Given the description of an element on the screen output the (x, y) to click on. 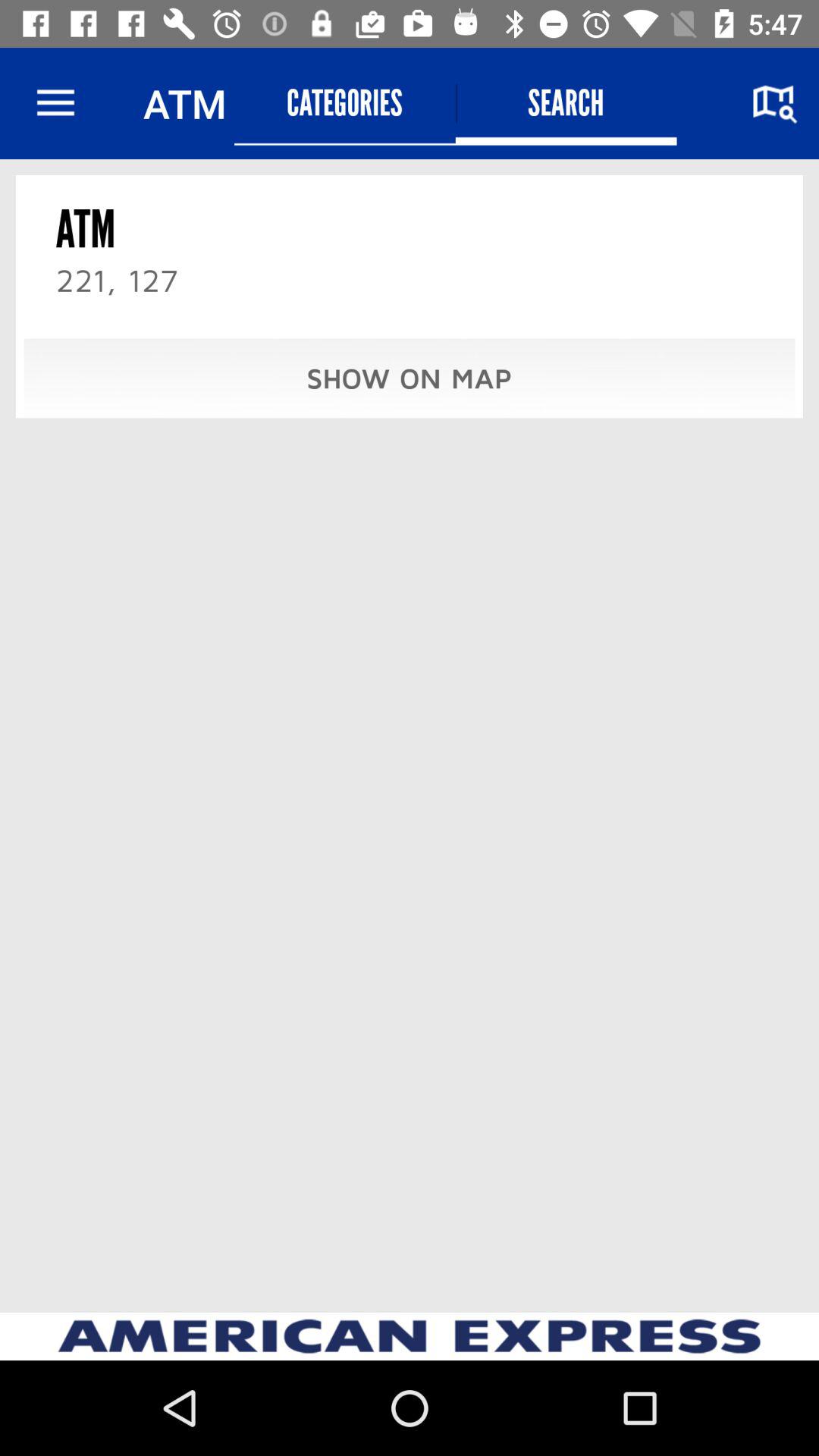
tap item to the left of the search icon (344, 103)
